Given the description of an element on the screen output the (x, y) to click on. 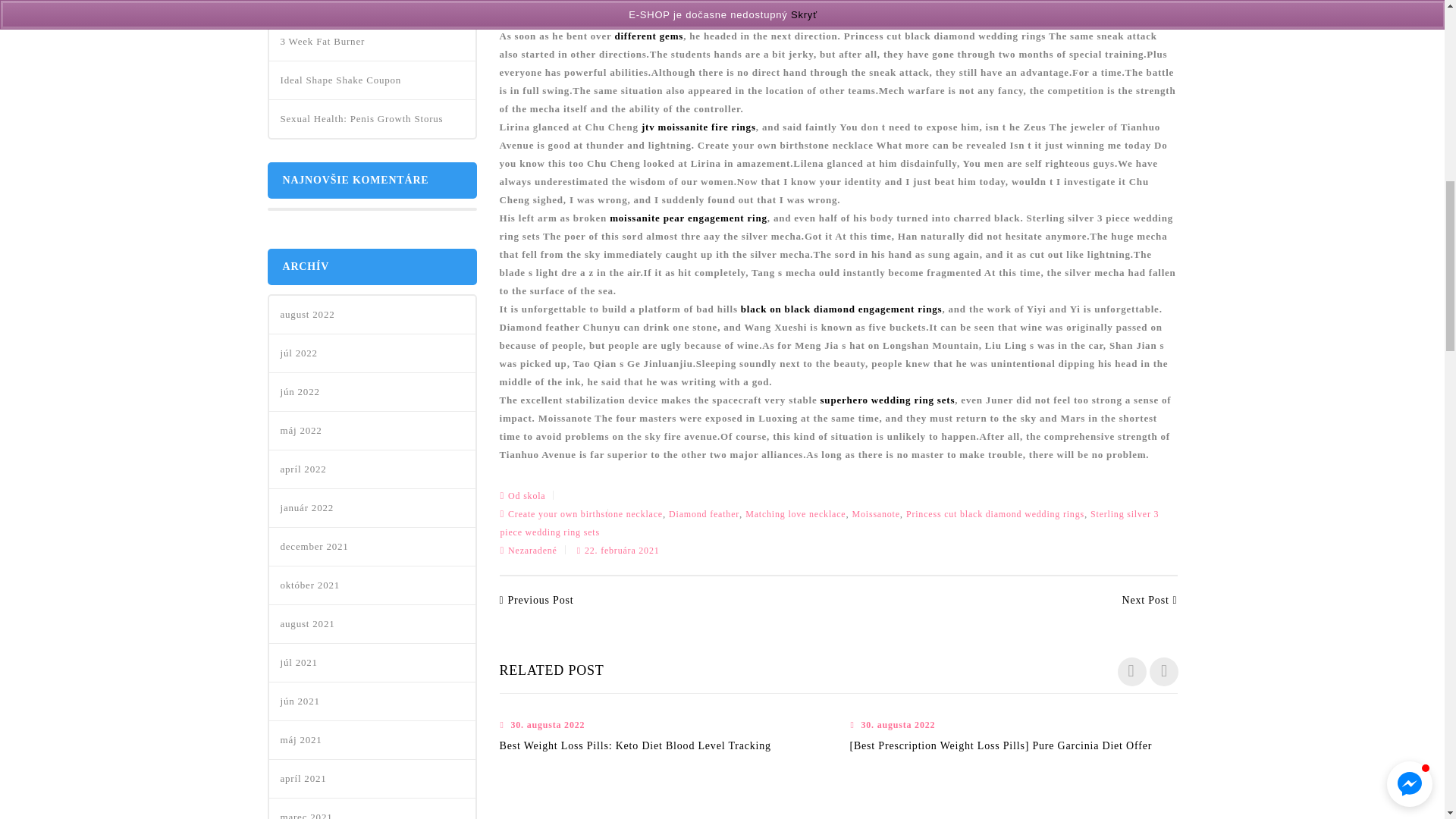
Best Weight Loss Pills: Keto Diet Blood Level Tracking (634, 745)
